Given the description of an element on the screen output the (x, y) to click on. 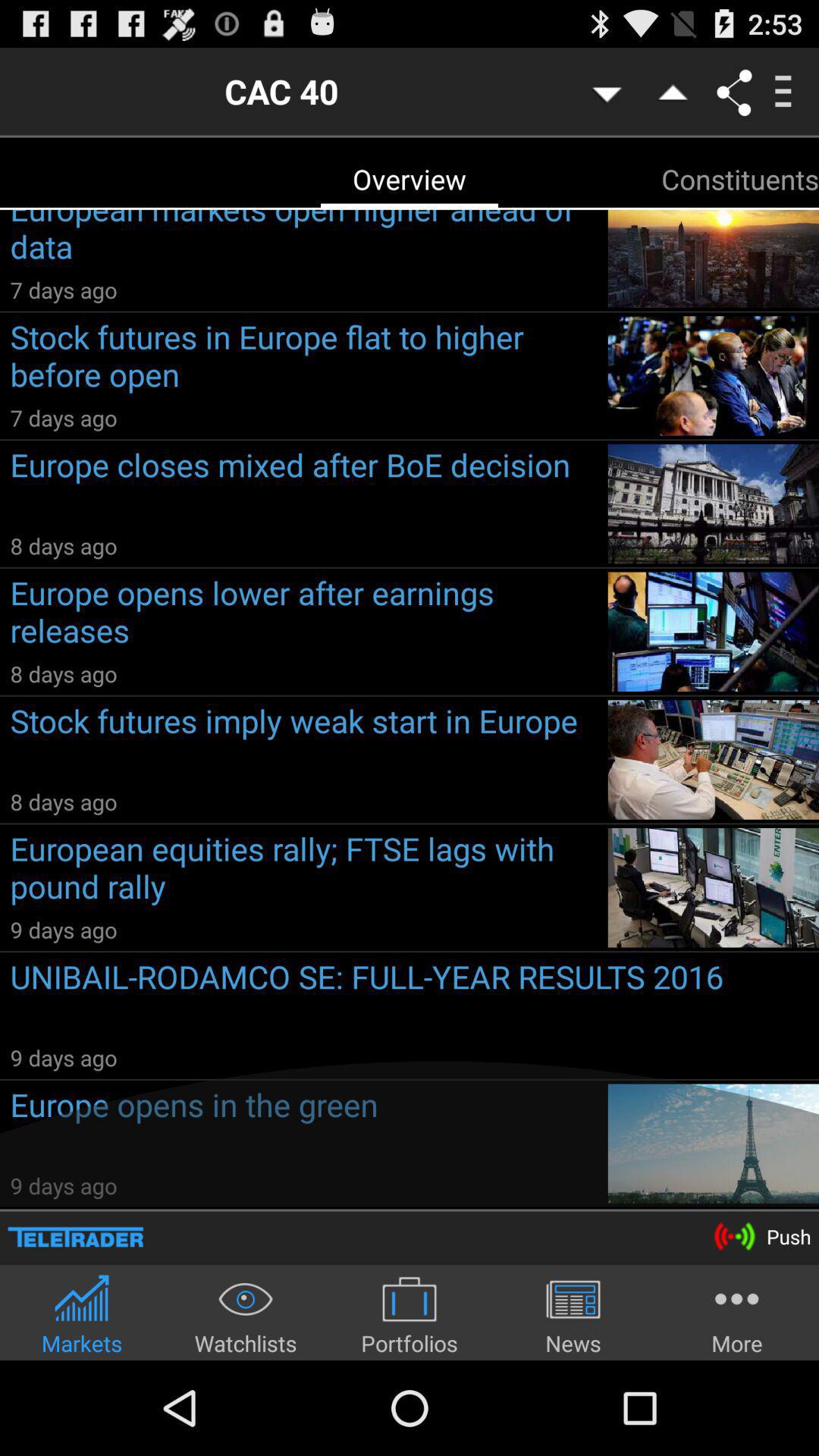
turn off the european markets open icon (303, 241)
